Given the description of an element on the screen output the (x, y) to click on. 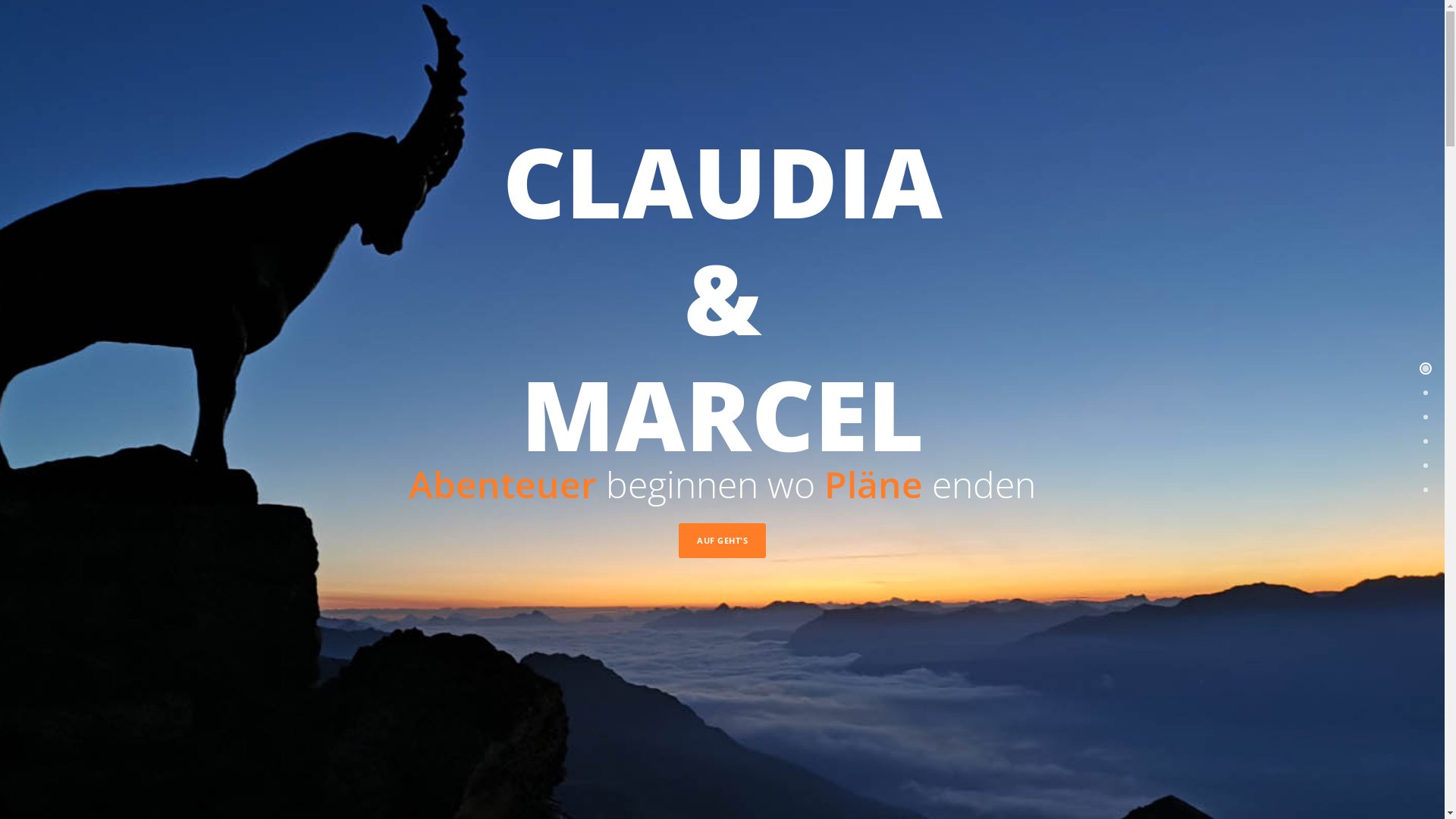
AUF GEHT'S Element type: text (721, 540)
